Given the description of an element on the screen output the (x, y) to click on. 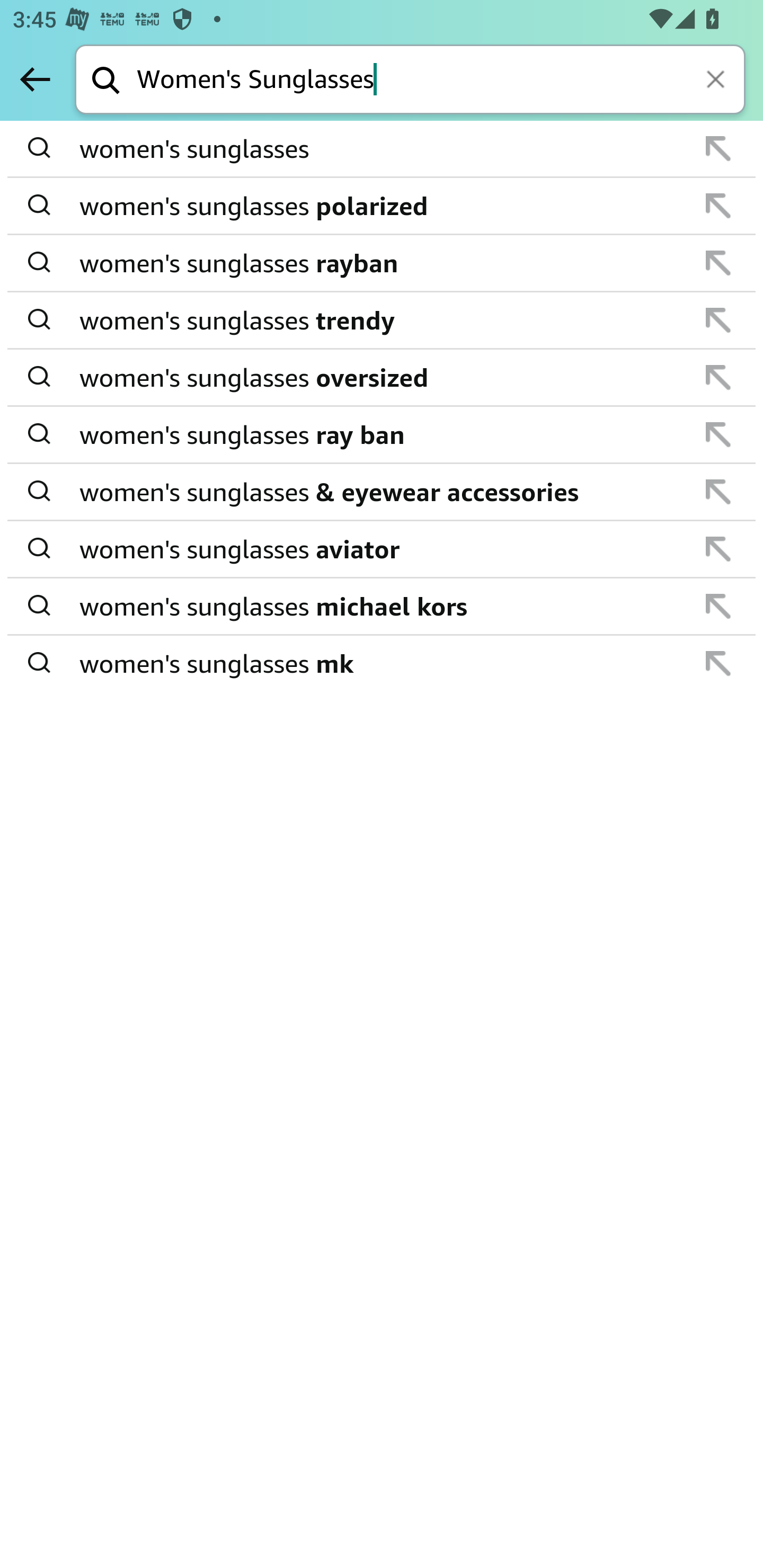
Women's Sunglasses (440, 80)
Clear search keywords (717, 80)
Back (35, 78)
append suggestion women's sunglasses (381, 149)
women's sunglasses (382, 149)
append suggestion (718, 147)
women's sunglasses polarized (382, 205)
append suggestion women's sunglasses polarized (381, 206)
append suggestion (718, 205)
women's sunglasses rayban (382, 262)
append suggestion women's sunglasses rayban (381, 263)
append suggestion (718, 262)
women's sunglasses trendy (382, 319)
append suggestion women's sunglasses trendy (381, 320)
append suggestion (718, 319)
women's sunglasses oversized (382, 377)
append suggestion women's sunglasses oversized (381, 377)
append suggestion (718, 376)
women's sunglasses ray ban (382, 434)
append suggestion women's sunglasses ray ban (381, 435)
append suggestion (718, 434)
women's sunglasses & eyewear accessories (382, 491)
append suggestion (718, 491)
women's sunglasses aviator (382, 548)
append suggestion women's sunglasses aviator (381, 549)
append suggestion (718, 548)
women's sunglasses michael kors (382, 606)
append suggestion women's sunglasses michael kors (381, 606)
append suggestion (718, 605)
women's sunglasses mk (382, 662)
append suggestion women's sunglasses mk (381, 663)
append suggestion (718, 663)
